Given the description of an element on the screen output the (x, y) to click on. 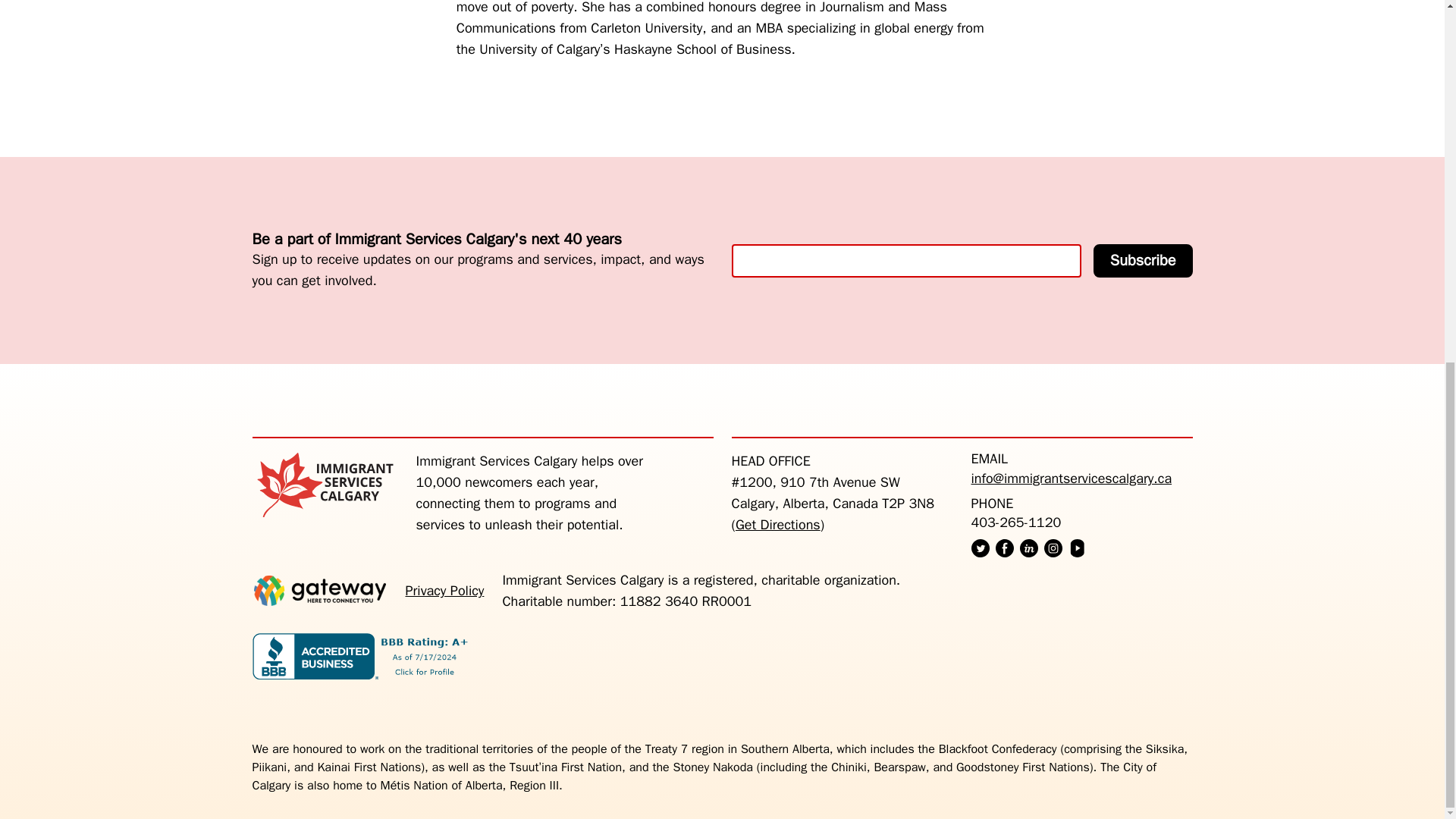
Subscribe (1142, 260)
